Given the description of an element on the screen output the (x, y) to click on. 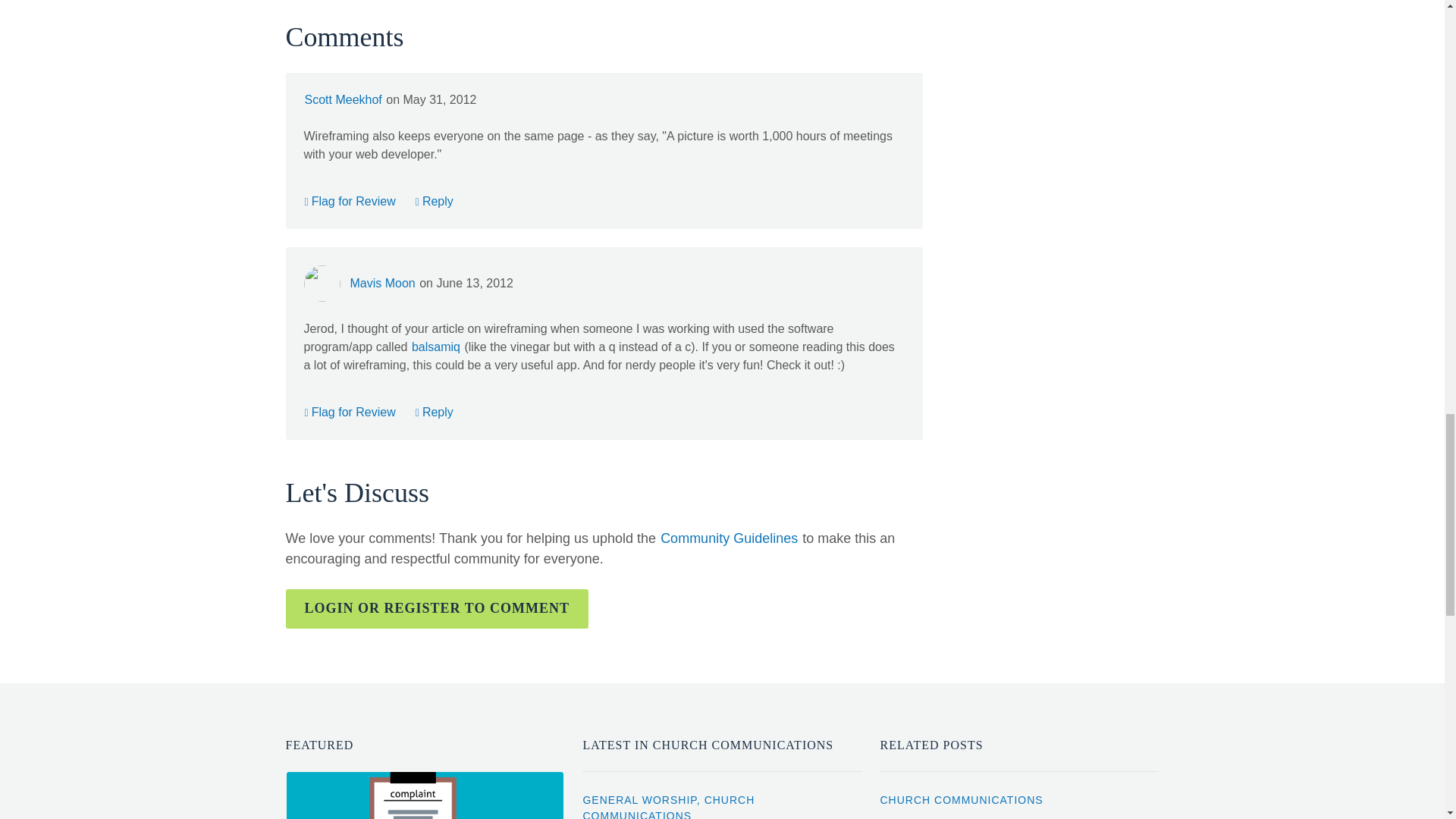
Mavis Moon (381, 283)
View user profile. (341, 99)
Reply (434, 411)
Community Guidelines (728, 538)
Scott Meekhof (341, 99)
View user profile. (381, 283)
Reply (434, 201)
Flag for Review (349, 201)
balsamiq  (437, 346)
Flag for Review (349, 411)
